Given the description of an element on the screen output the (x, y) to click on. 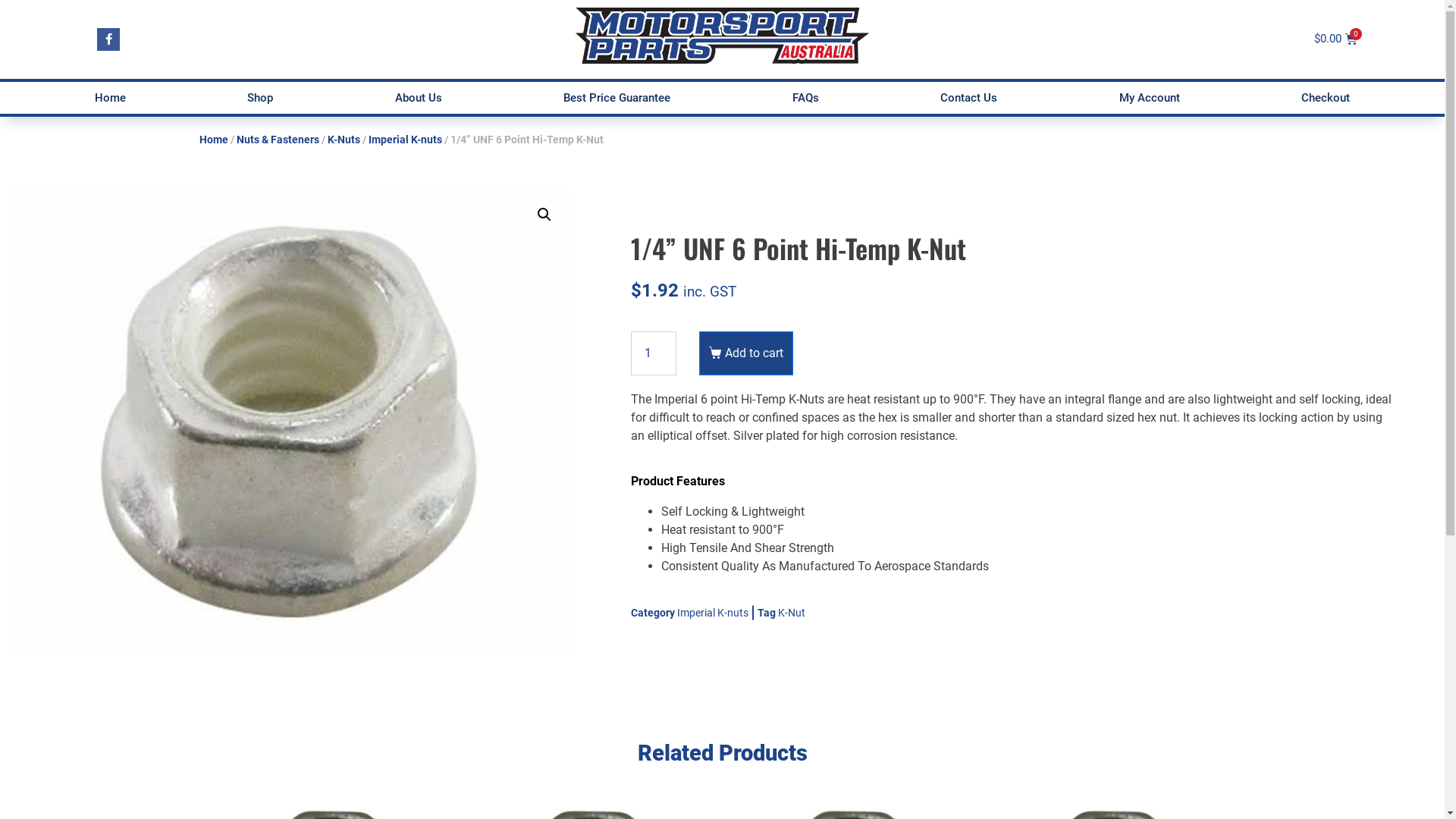
Nuts & Fasteners Element type: text (277, 139)
Imperial K-nuts Element type: text (712, 612)
About Us Element type: text (418, 97)
05702317-83F0-40FF-A7B1-53893A1EF8CB Element type: hover (288, 421)
Shop Element type: text (260, 97)
Checkout Element type: text (1326, 97)
Add to cart Element type: text (746, 353)
My Account Element type: text (1149, 97)
FAQs Element type: text (805, 97)
Home Element type: text (212, 139)
K-Nut Element type: text (791, 612)
Qty Element type: hover (653, 353)
Contact Us Element type: text (969, 97)
Imperial K-nuts Element type: text (405, 139)
Home Element type: text (109, 97)
$0.00
0 Element type: text (1335, 38)
Best Price Guarantee Element type: text (616, 97)
K-Nuts Element type: text (343, 139)
